Given the description of an element on the screen output the (x, y) to click on. 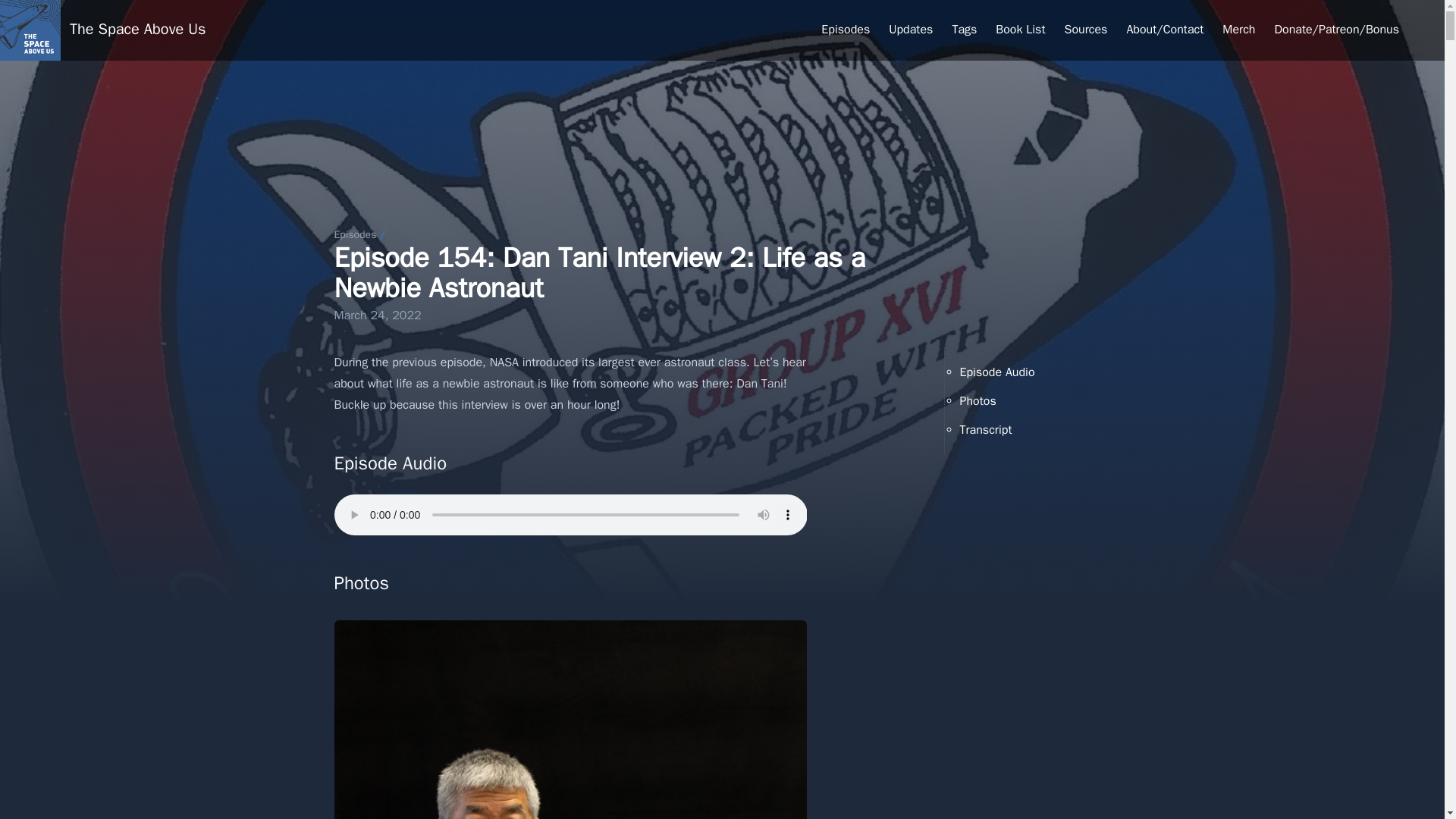
Updates (910, 30)
Tags (964, 30)
Sources (1086, 30)
The Space Above Us (137, 29)
Recommended Books (1020, 30)
Merch (1239, 30)
Episodes (354, 234)
Merch (1239, 30)
The Space Above Us (30, 30)
Book List (1020, 30)
